Given the description of an element on the screen output the (x, y) to click on. 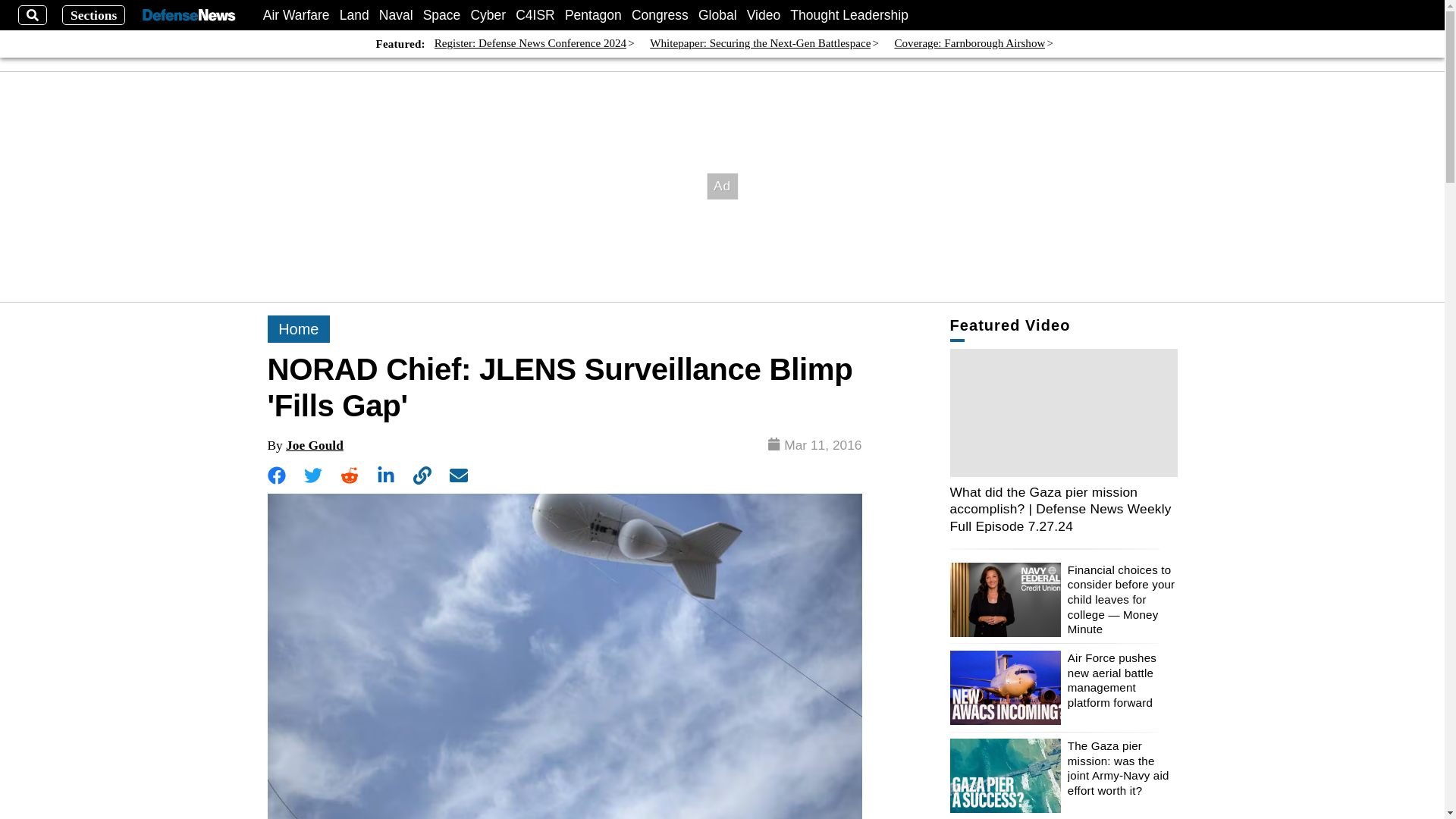
Congress (659, 14)
Naval (395, 14)
Air Warfare (296, 14)
Thought Leadership (849, 14)
Sections (93, 14)
Space (442, 14)
Defense News Logo (188, 14)
Land (354, 14)
Global (717, 14)
Video (763, 14)
